Given the description of an element on the screen output the (x, y) to click on. 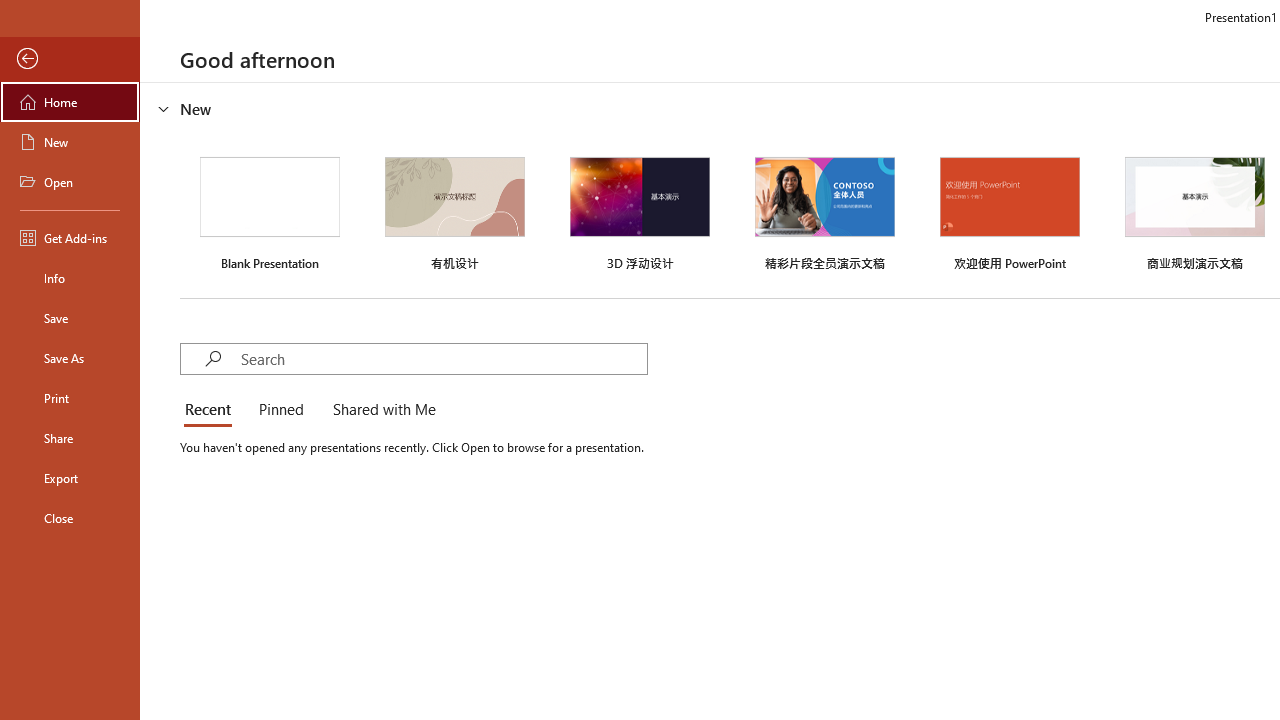
Save As (69, 357)
Recent (212, 410)
Back (69, 59)
Export (69, 477)
Blank Presentation (269, 211)
